Given the description of an element on the screen output the (x, y) to click on. 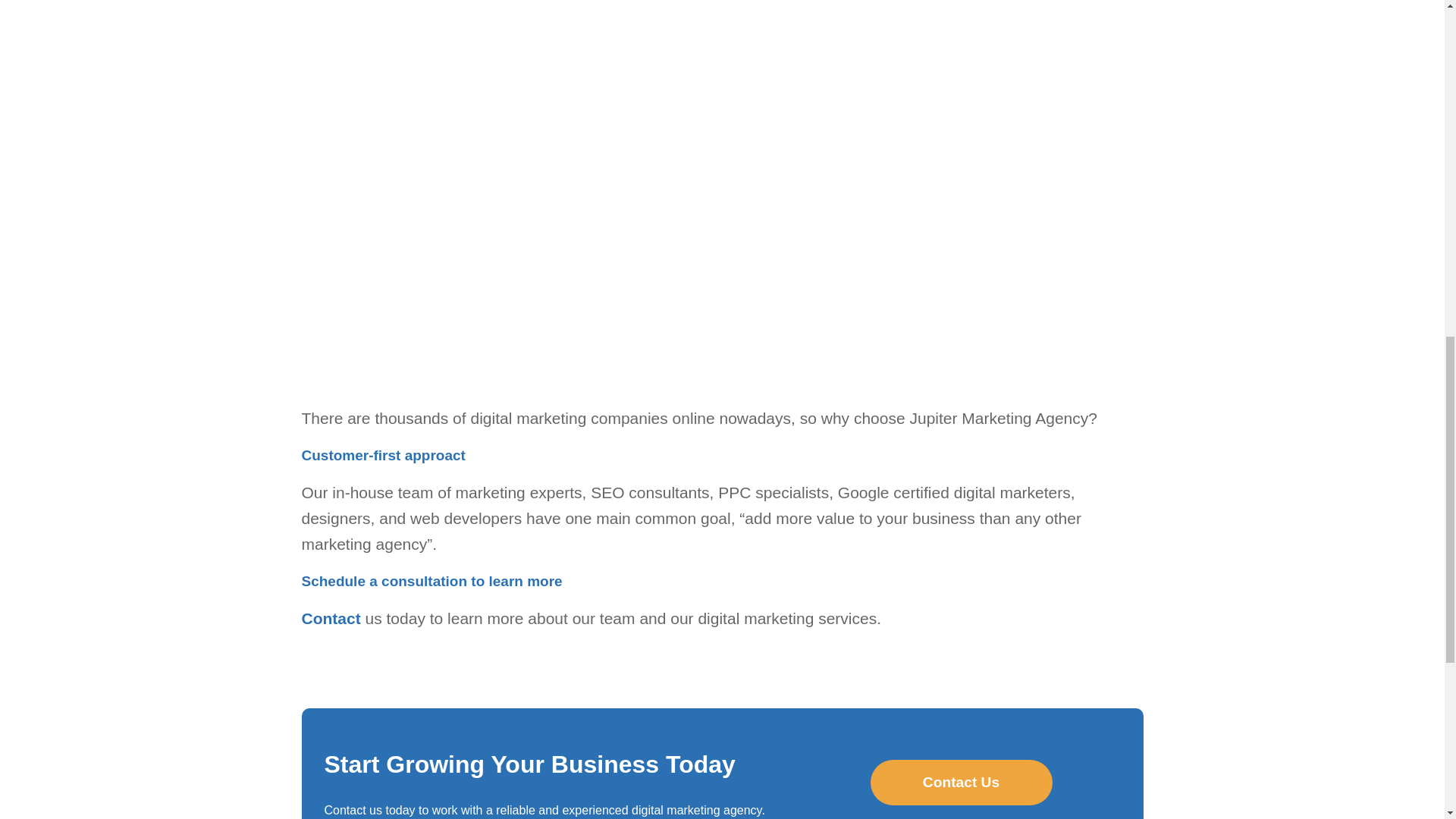
Contact (331, 618)
Contact Us (961, 782)
